Given the description of an element on the screen output the (x, y) to click on. 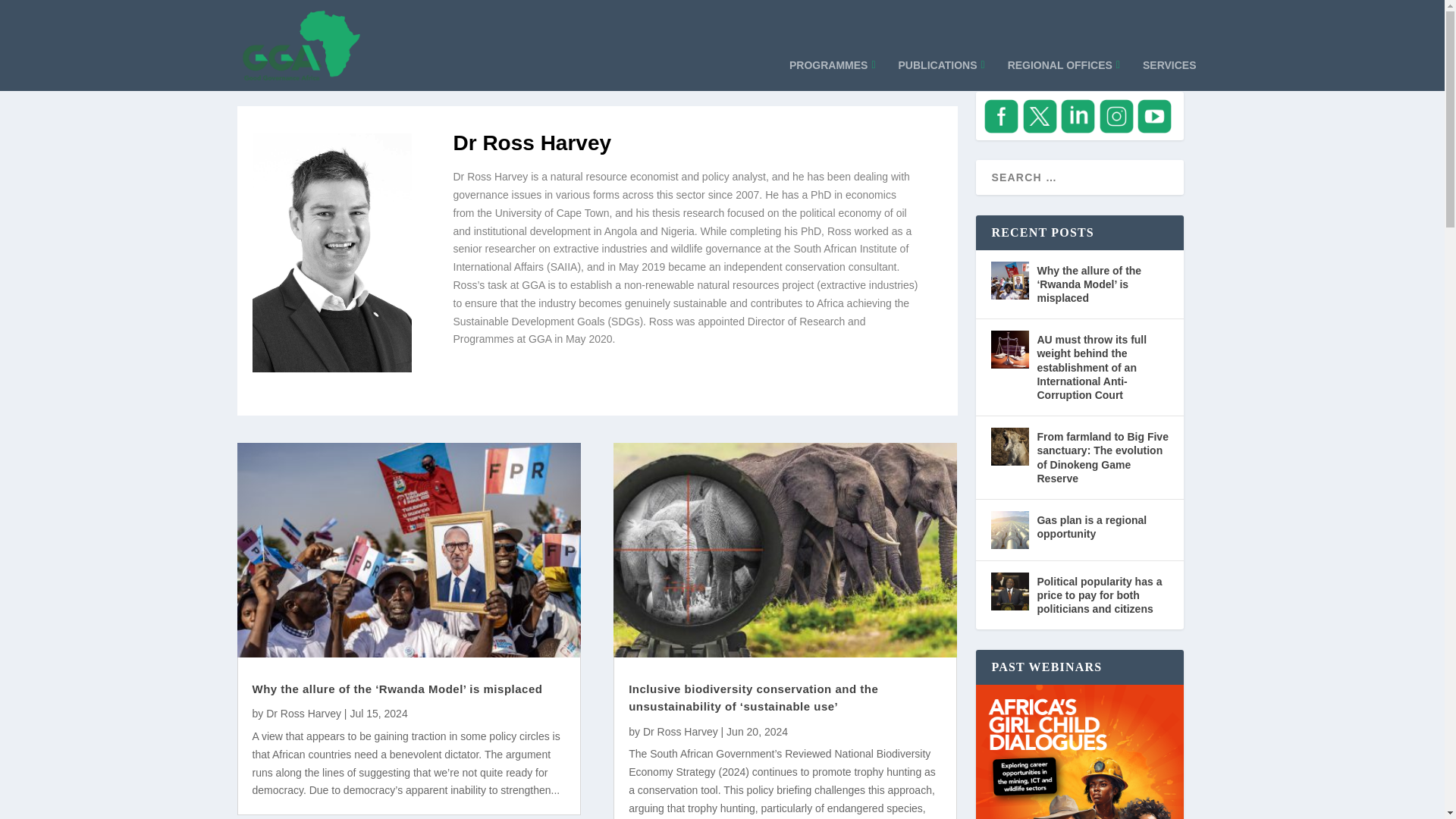
REGIONAL OFFICES (1063, 68)
Upcoming Webinars (1079, 751)
Gas plan is a regional opportunity (1010, 529)
PROGRAMMES (832, 68)
PUBLICATIONS (941, 68)
SERVICES (1169, 68)
